Given the description of an element on the screen output the (x, y) to click on. 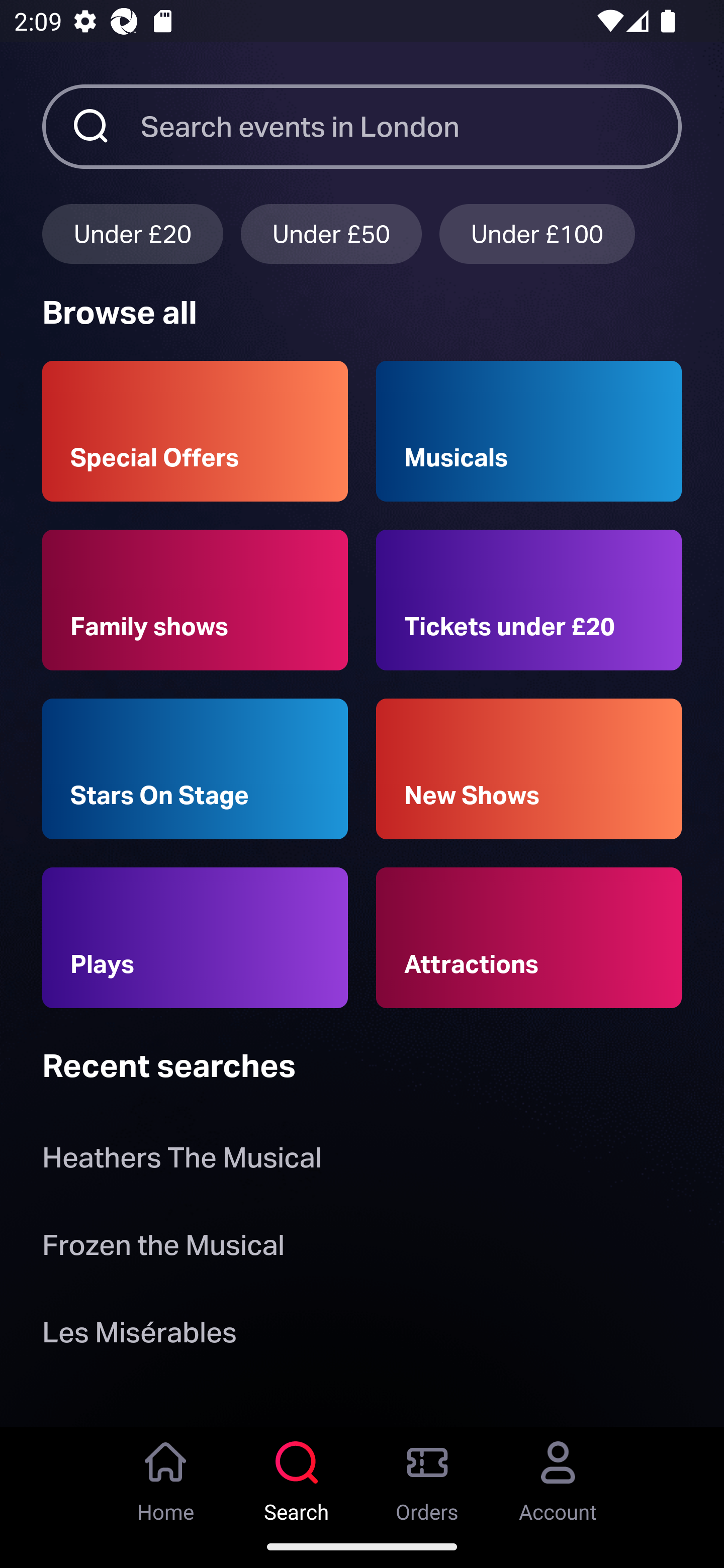
Search events in London (411, 126)
Under £20 (131, 233)
Under £50 (331, 233)
Under £100 (536, 233)
Special Offers (194, 430)
Musicals (528, 430)
Family shows (194, 600)
Tickets under £20  (528, 600)
Stars On Stage (194, 768)
New Shows (528, 768)
Plays (194, 937)
Attractions  (528, 937)
Heathers The Musical (181, 1161)
Frozen the Musical (162, 1248)
Les Misérables (138, 1335)
Home (165, 1475)
Orders (427, 1475)
Account (558, 1475)
